Given the description of an element on the screen output the (x, y) to click on. 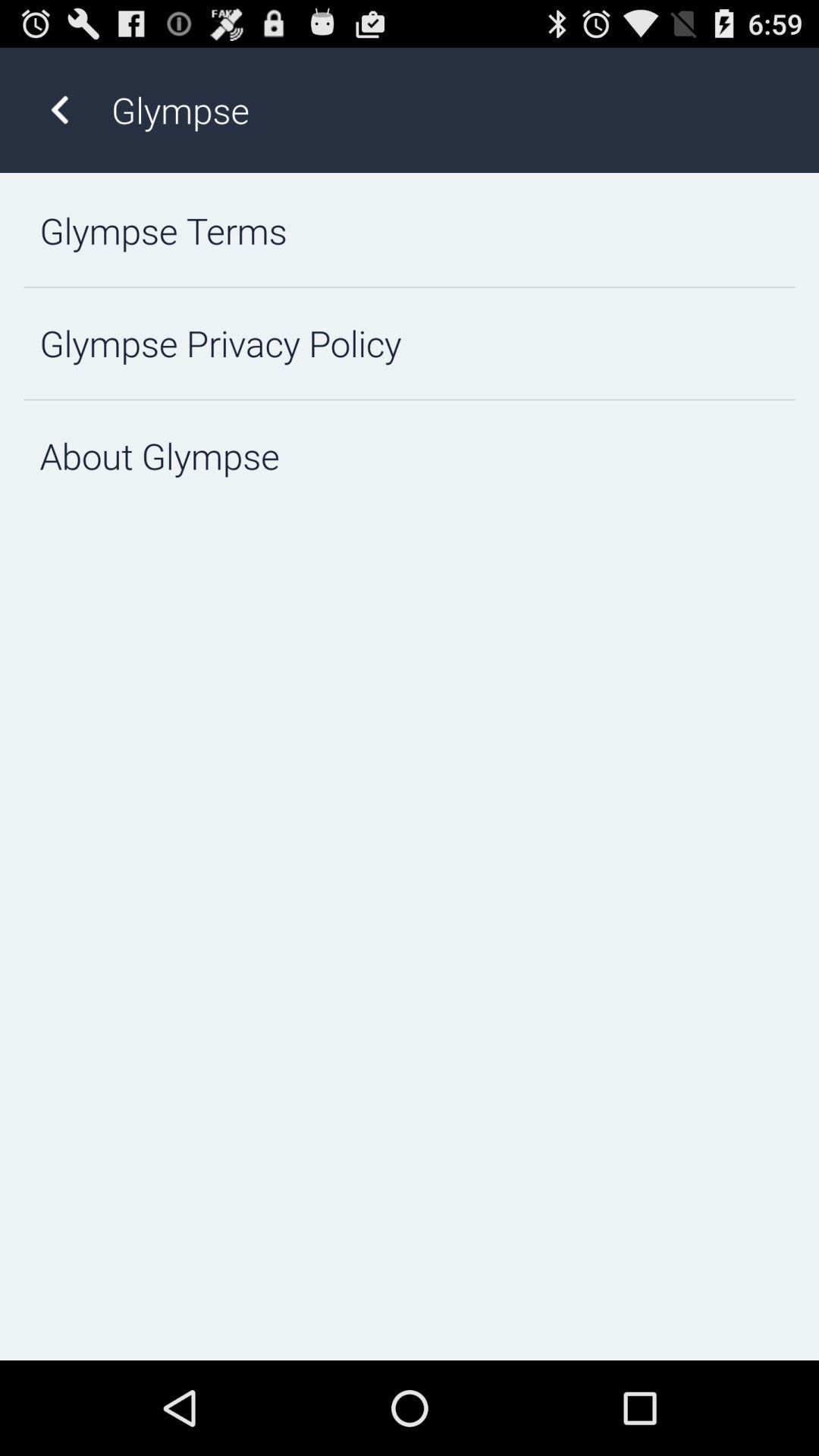
jump until the glympse terms (409, 230)
